Given the description of an element on the screen output the (x, y) to click on. 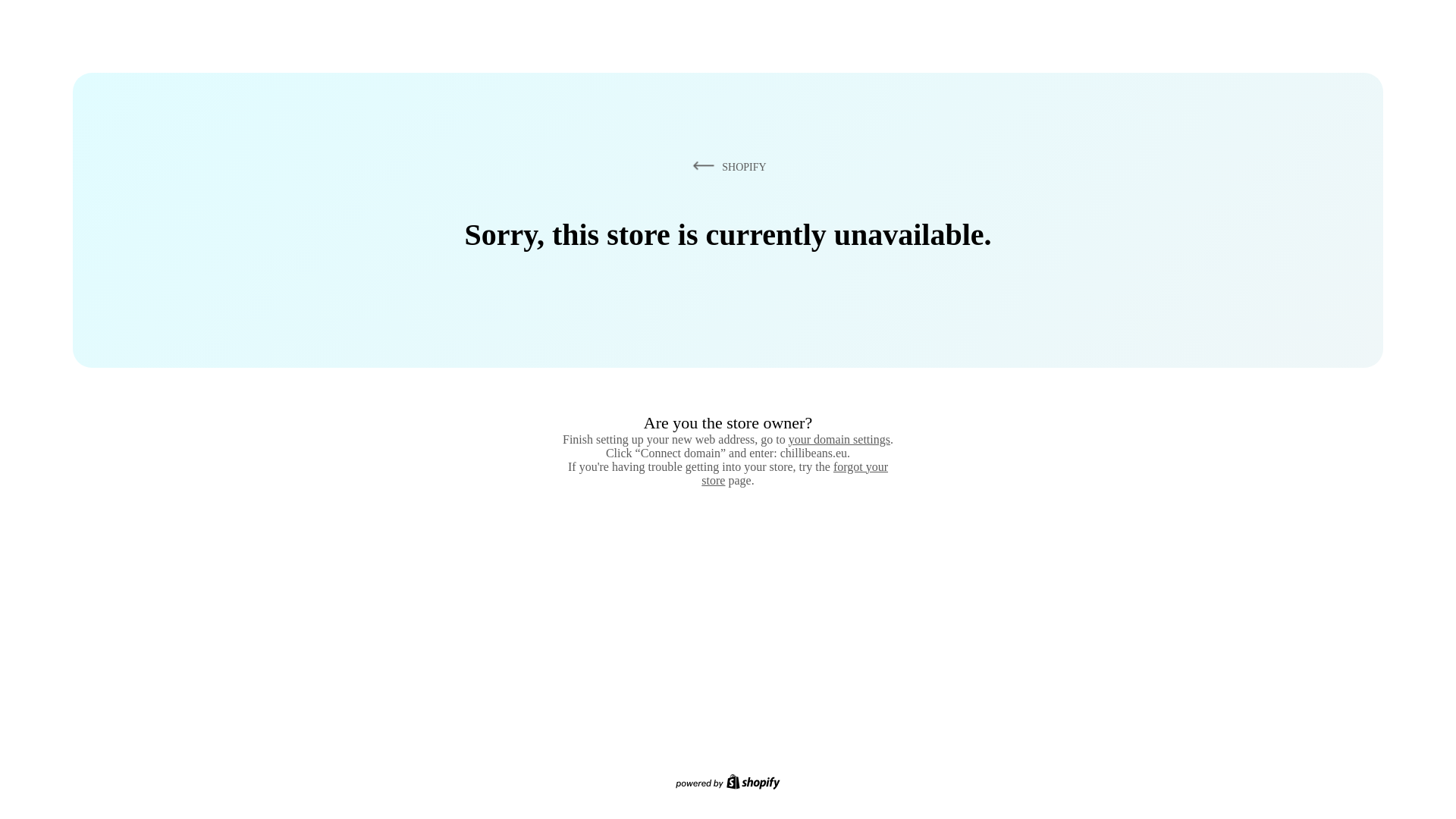
forgot your store (794, 473)
your domain settings (839, 439)
SHOPIFY (726, 166)
